Given the description of an element on the screen output the (x, y) to click on. 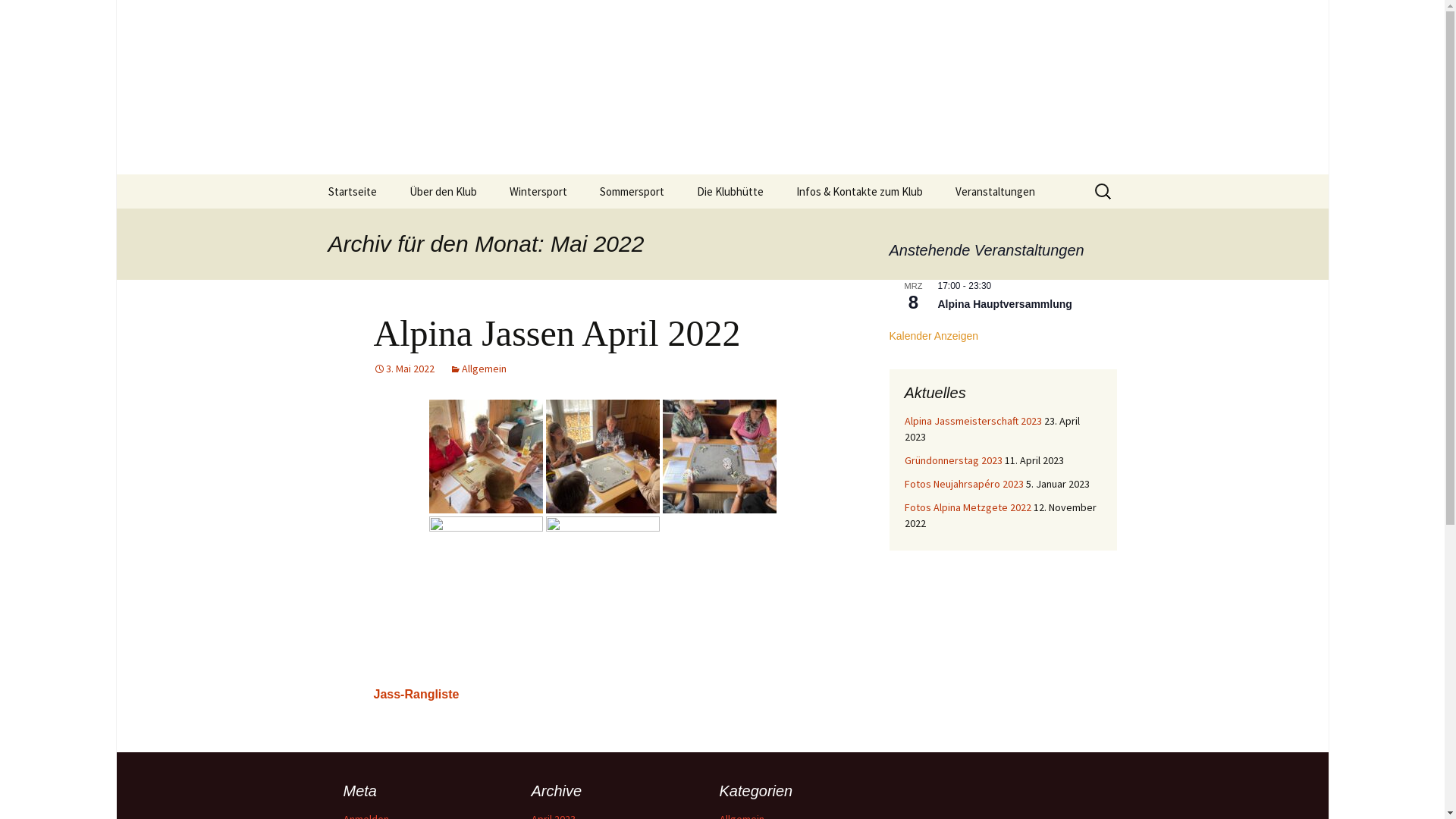
Wintersport Element type: text (538, 191)
Fotos Alpina Metzgete 2022 Element type: text (966, 507)
Jass-Rangliste Element type: text (415, 693)
Alpina Jassen April 2022 Element type: text (556, 333)
Weitere Infos Element type: text (470, 225)
Zum Inhalt springen Element type: text (312, 173)
Brunnenbau Element type: text (756, 225)
Kalender Anzeigen Element type: text (933, 335)
Infos & Kontakte zum Klub Element type: text (859, 191)
Programm 2023 Element type: text (1016, 225)
3. Mai 2022 Element type: text (403, 368)
Allgemein Element type: text (476, 368)
Veranstaltungen Element type: text (995, 191)
Alpina Jassmeisterschaft 2023 Element type: text (972, 420)
Alpina Herisau
Berg & Skiklub Element type: text (721, 87)
Sommersport Element type: text (630, 191)
Startseite Element type: text (351, 191)
Alpina Hauptversammlung Element type: text (1004, 304)
Suche Element type: text (18, 16)
Belegungsplan 2023 Element type: text (856, 225)
